Given the description of an element on the screen output the (x, y) to click on. 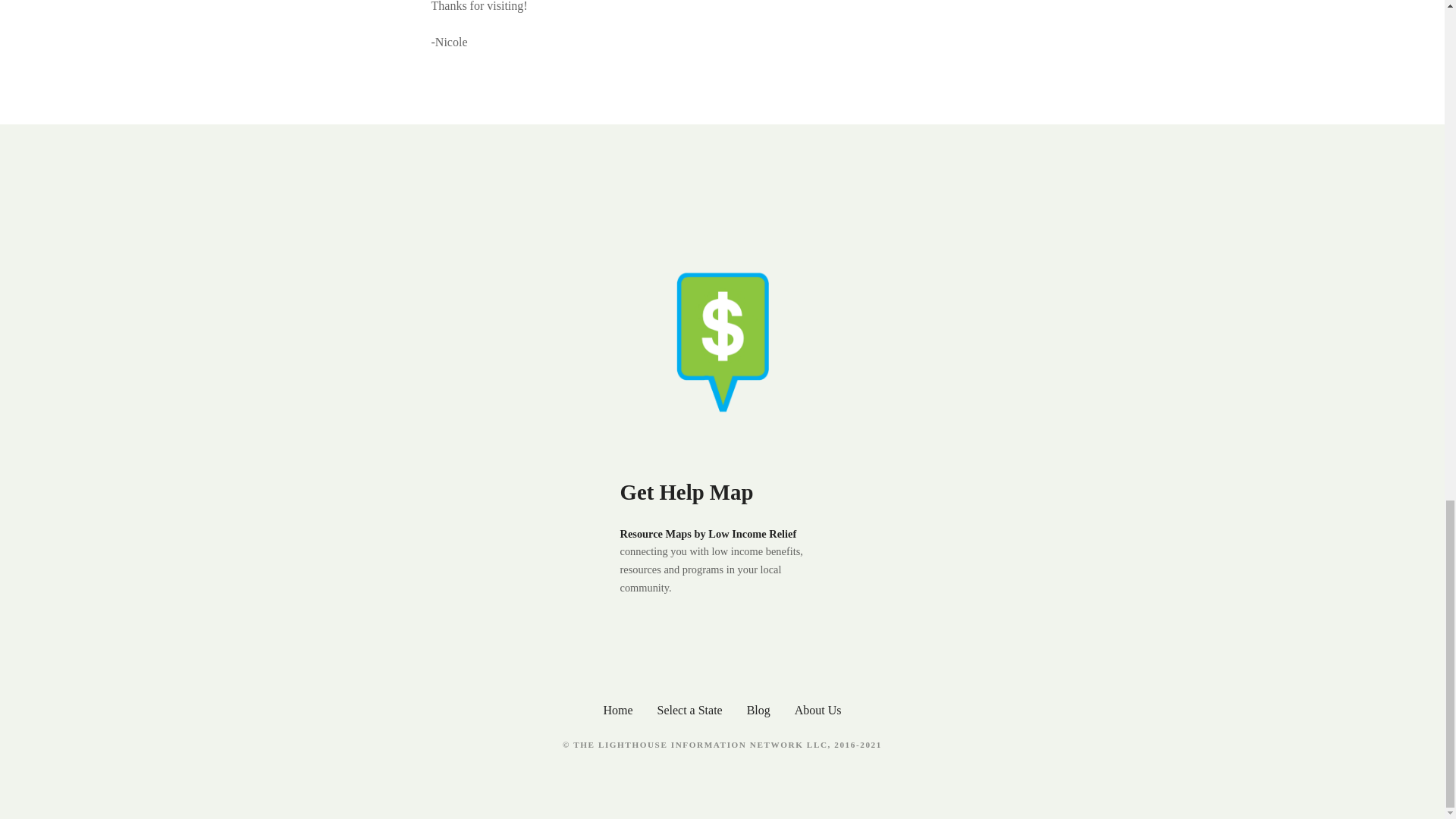
About Us (817, 709)
Home (616, 709)
Select a State (689, 709)
Blog (758, 709)
